Given the description of an element on the screen output the (x, y) to click on. 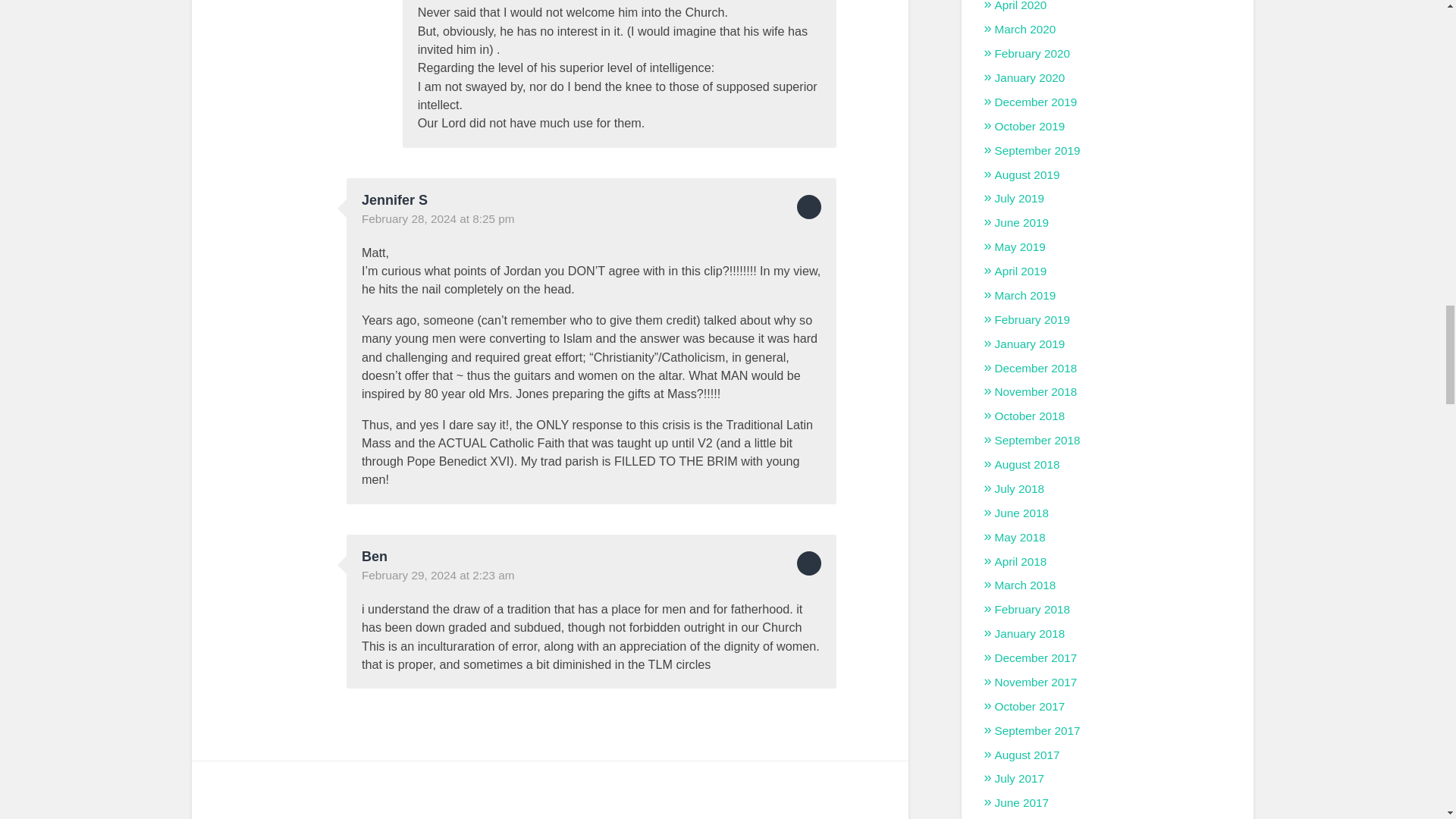
February 28, 2024 at 8:25 pm (438, 218)
Reply (808, 563)
Reply (808, 206)
February 29, 2024 at 2:23 am (438, 574)
